Given the description of an element on the screen output the (x, y) to click on. 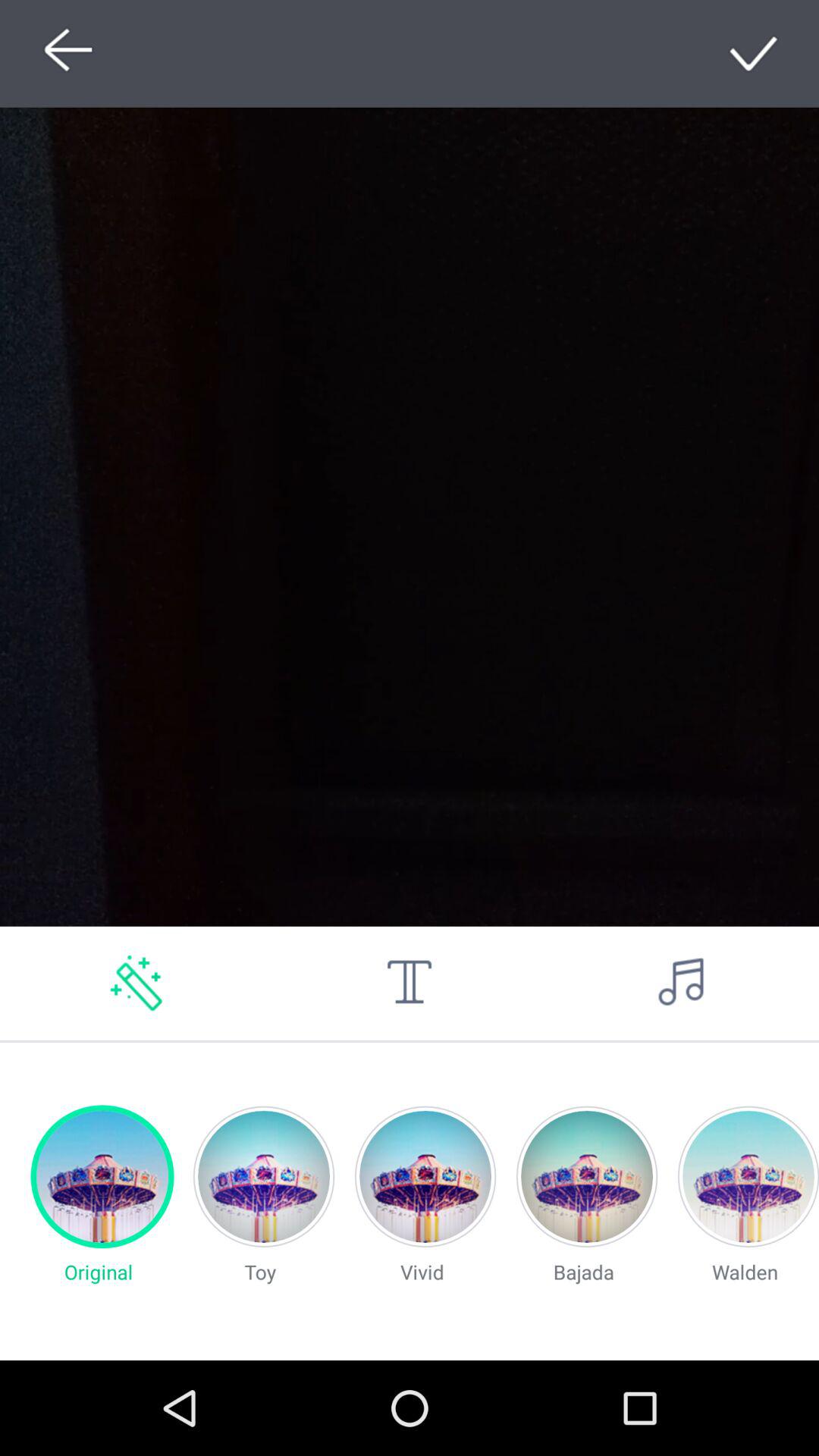
go do sealt (754, 53)
